Given the description of an element on the screen output the (x, y) to click on. 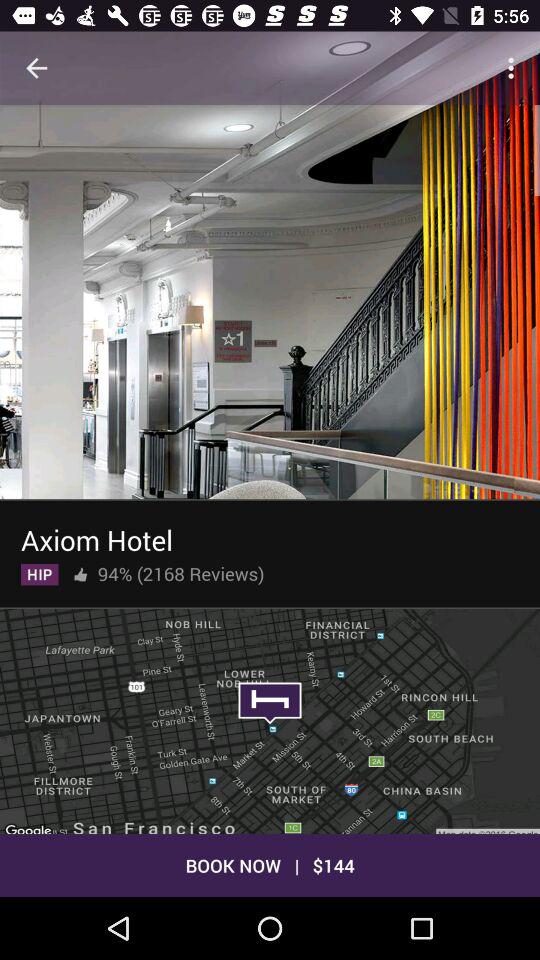
choose the 94% (2168 reviews) (180, 569)
